Given the description of an element on the screen output the (x, y) to click on. 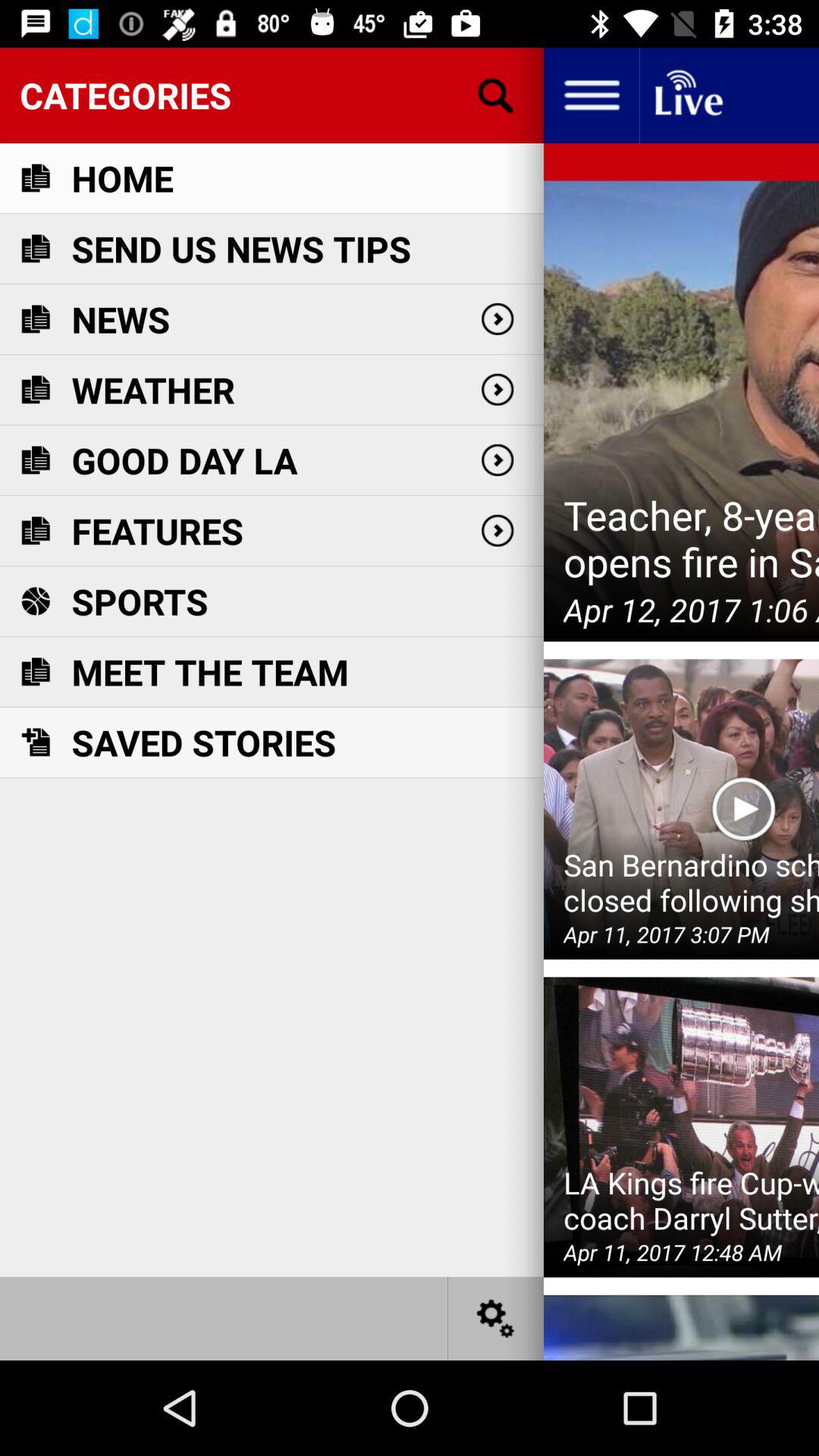
scroll until send us news item (241, 248)
